Given the description of an element on the screen output the (x, y) to click on. 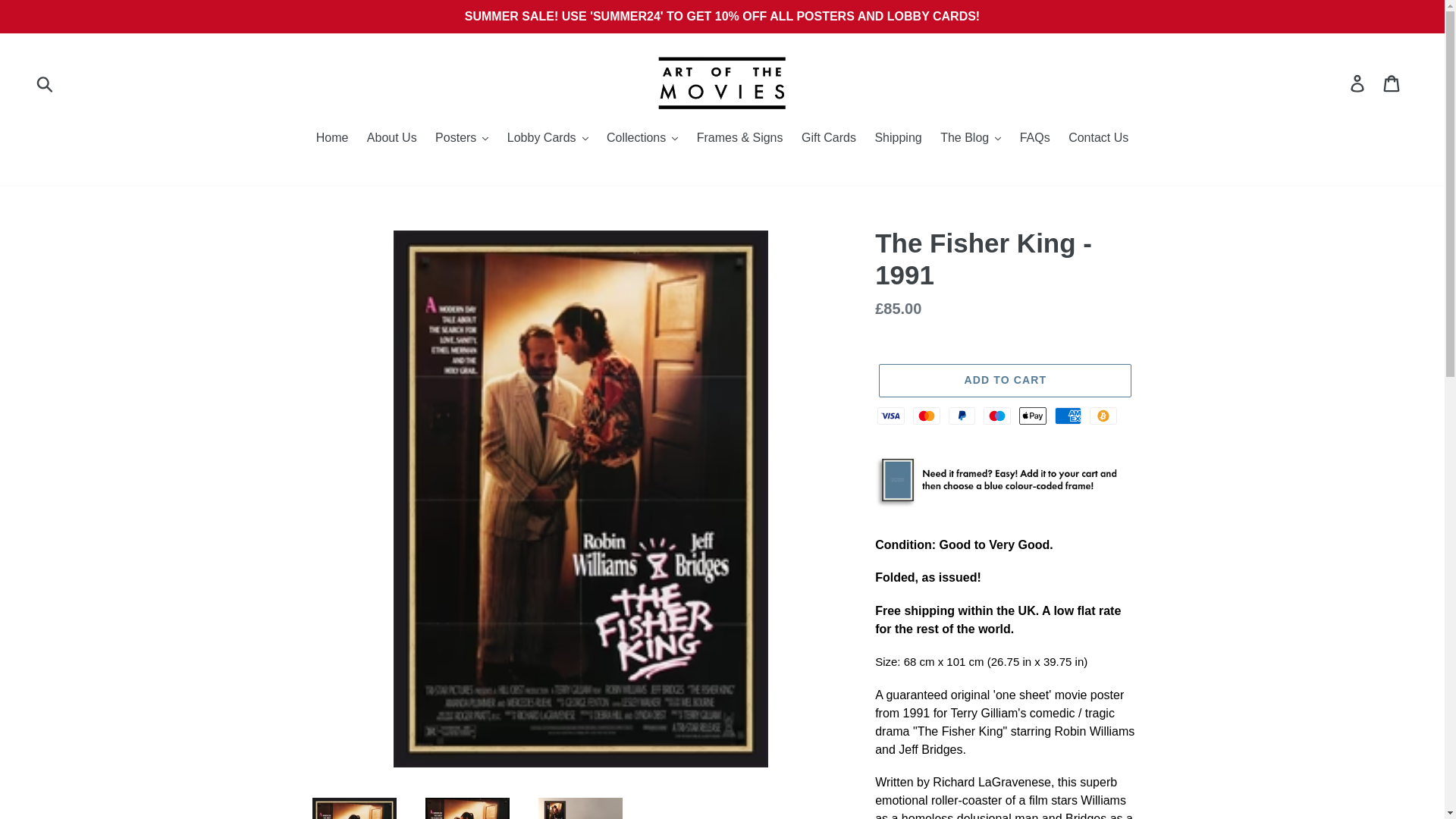
Log in (1357, 82)
Cart (1392, 82)
Submit (45, 82)
